Given the description of an element on the screen output the (x, y) to click on. 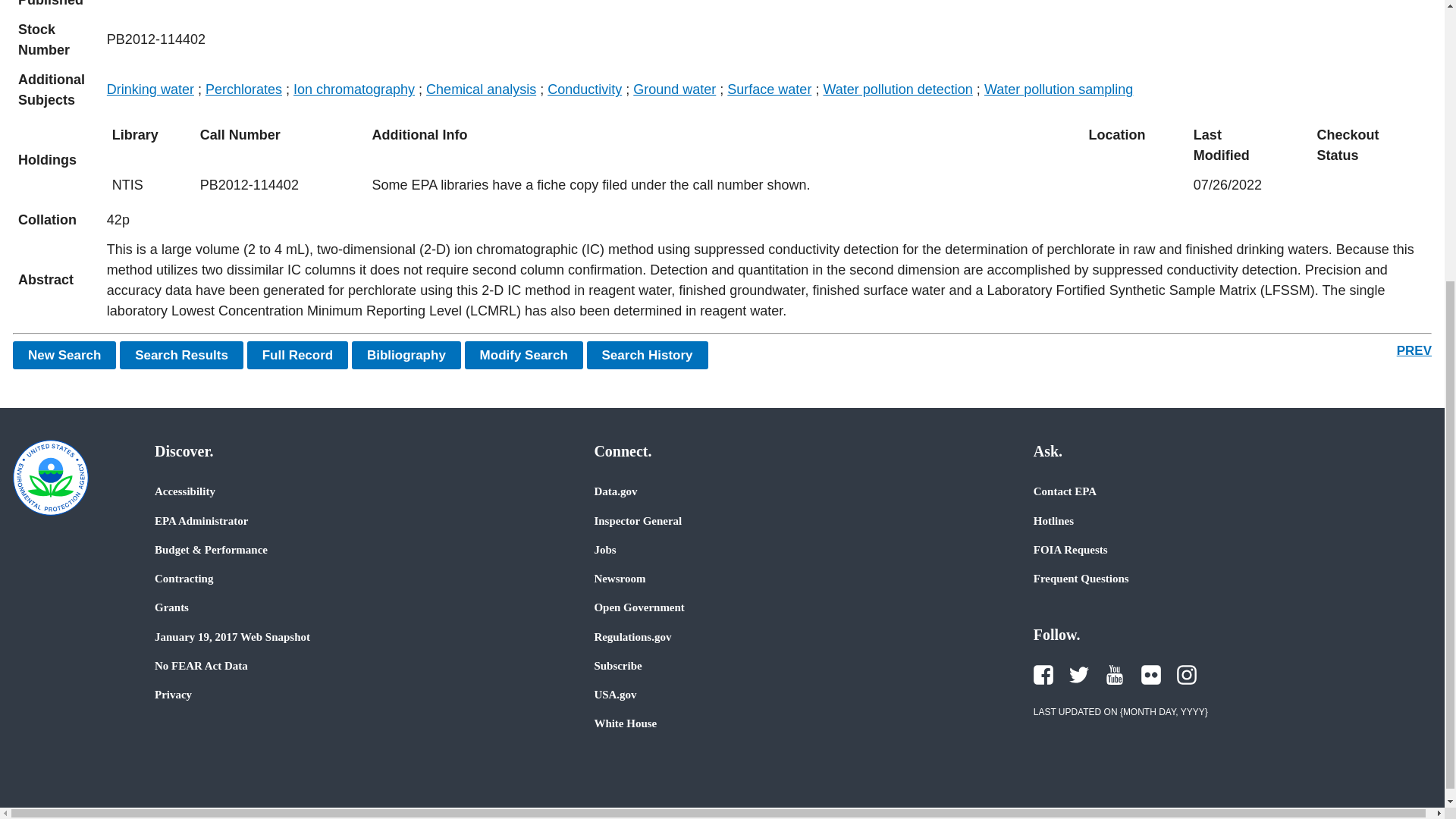
Water pollution sampling (1058, 89)
full length text available by clicking full record (766, 280)
Jobs (604, 549)
Ion chromatography (354, 89)
Bibliography (406, 355)
Search History (646, 355)
Display Full Record (298, 355)
Inspector General (637, 520)
Chemical analysis (480, 89)
Create a New Search (64, 355)
